Given the description of an element on the screen output the (x, y) to click on. 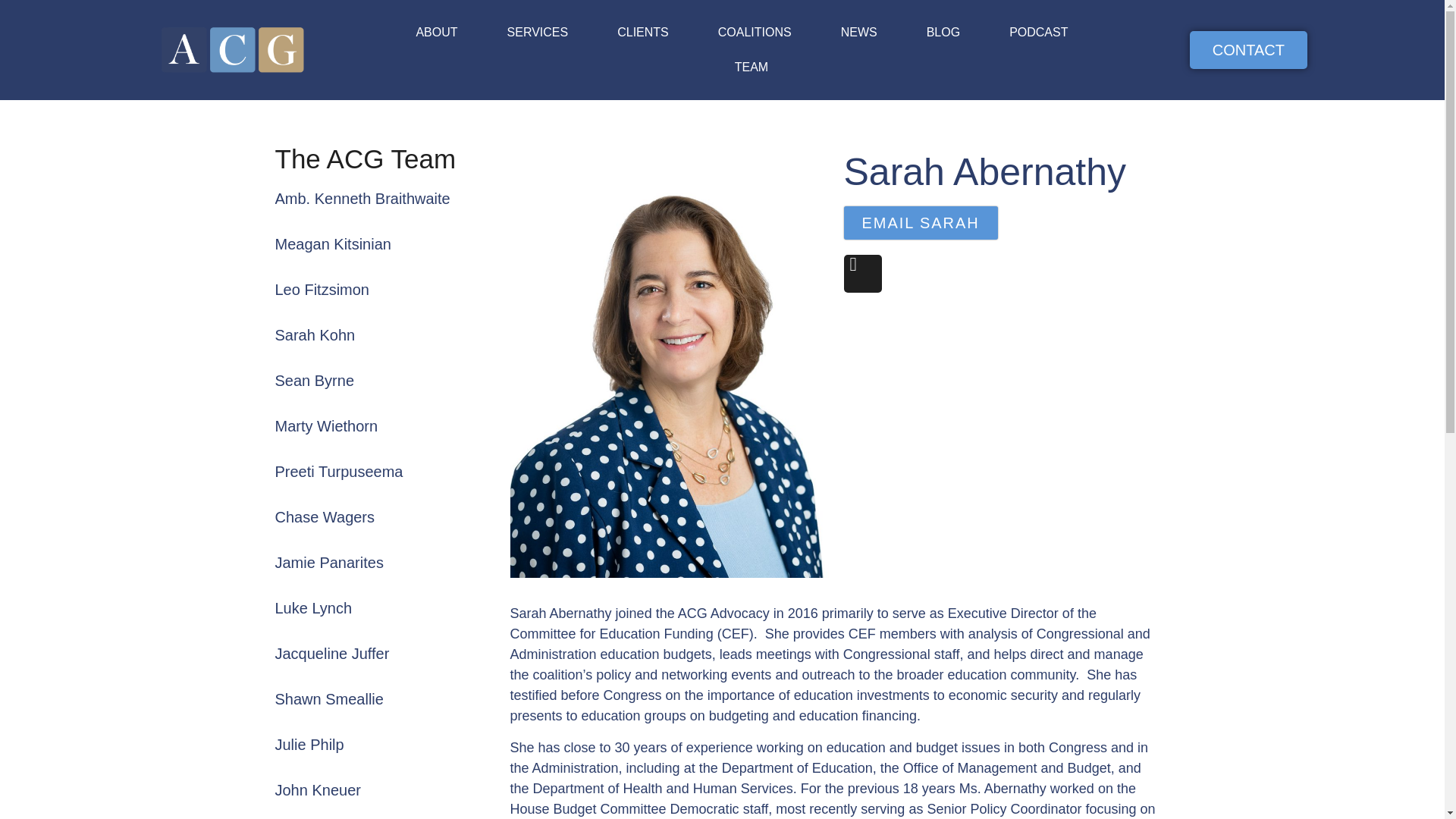
Amb. Kenneth Braithwaite (362, 198)
SERVICES (537, 32)
PODCAST (1038, 32)
TEAM (751, 67)
BLOG (943, 32)
Meagan Kitsinian (332, 243)
COALITIONS (754, 32)
NEWS (858, 32)
ABOUT (435, 32)
CLIENTS (643, 32)
CONTACT (1248, 49)
